Given the description of an element on the screen output the (x, y) to click on. 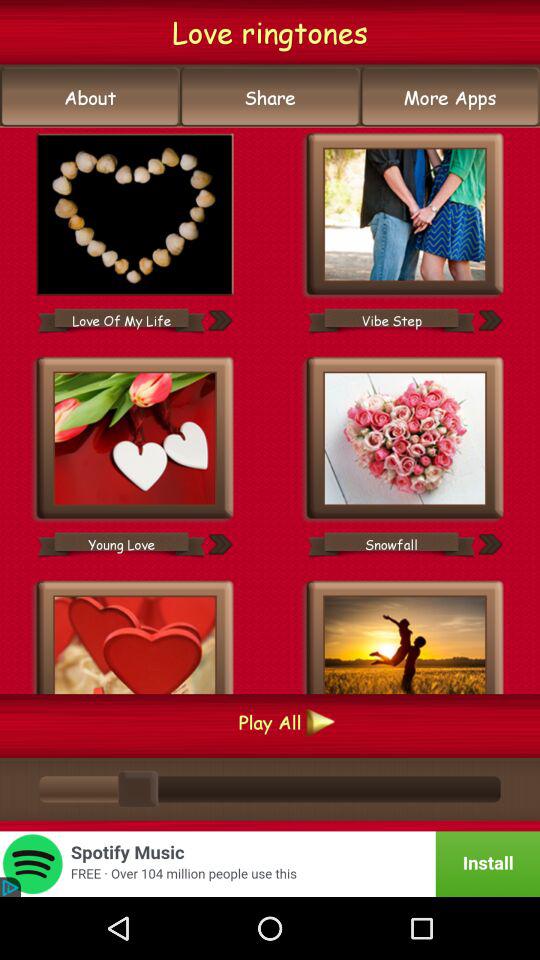
scroll to play all item (269, 721)
